Given the description of an element on the screen output the (x, y) to click on. 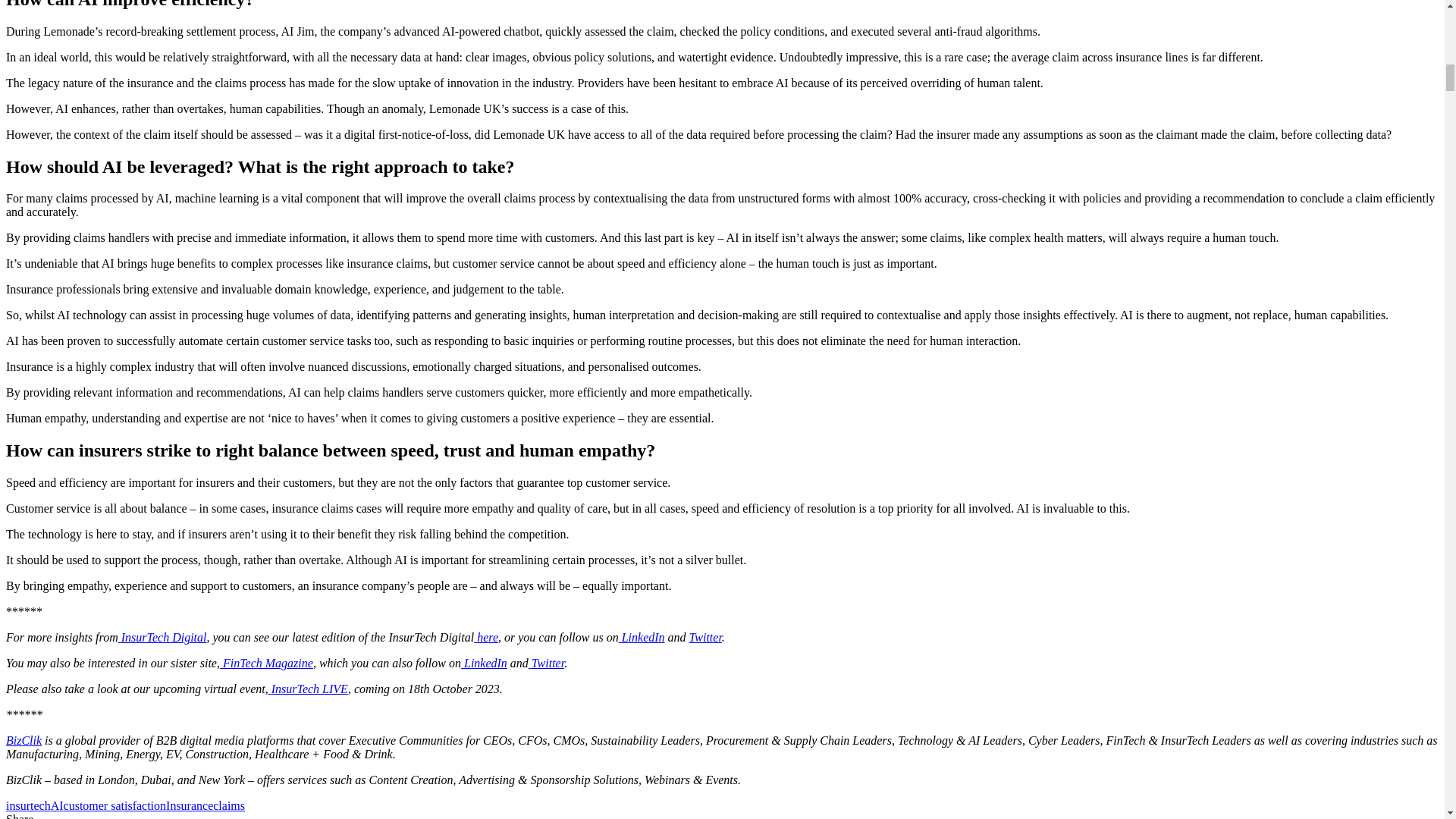
Insurance (188, 805)
InsurTech LIVE (307, 688)
LinkedIn (483, 662)
Twitter (546, 662)
insurtech (27, 805)
LinkedIn (641, 636)
BizClik (23, 739)
here (485, 636)
InsurTech Digital (161, 636)
FinTech Magazine (266, 662)
AI (57, 805)
claims (228, 805)
customer satisfaction (115, 805)
Twitter (705, 636)
